Given the description of an element on the screen output the (x, y) to click on. 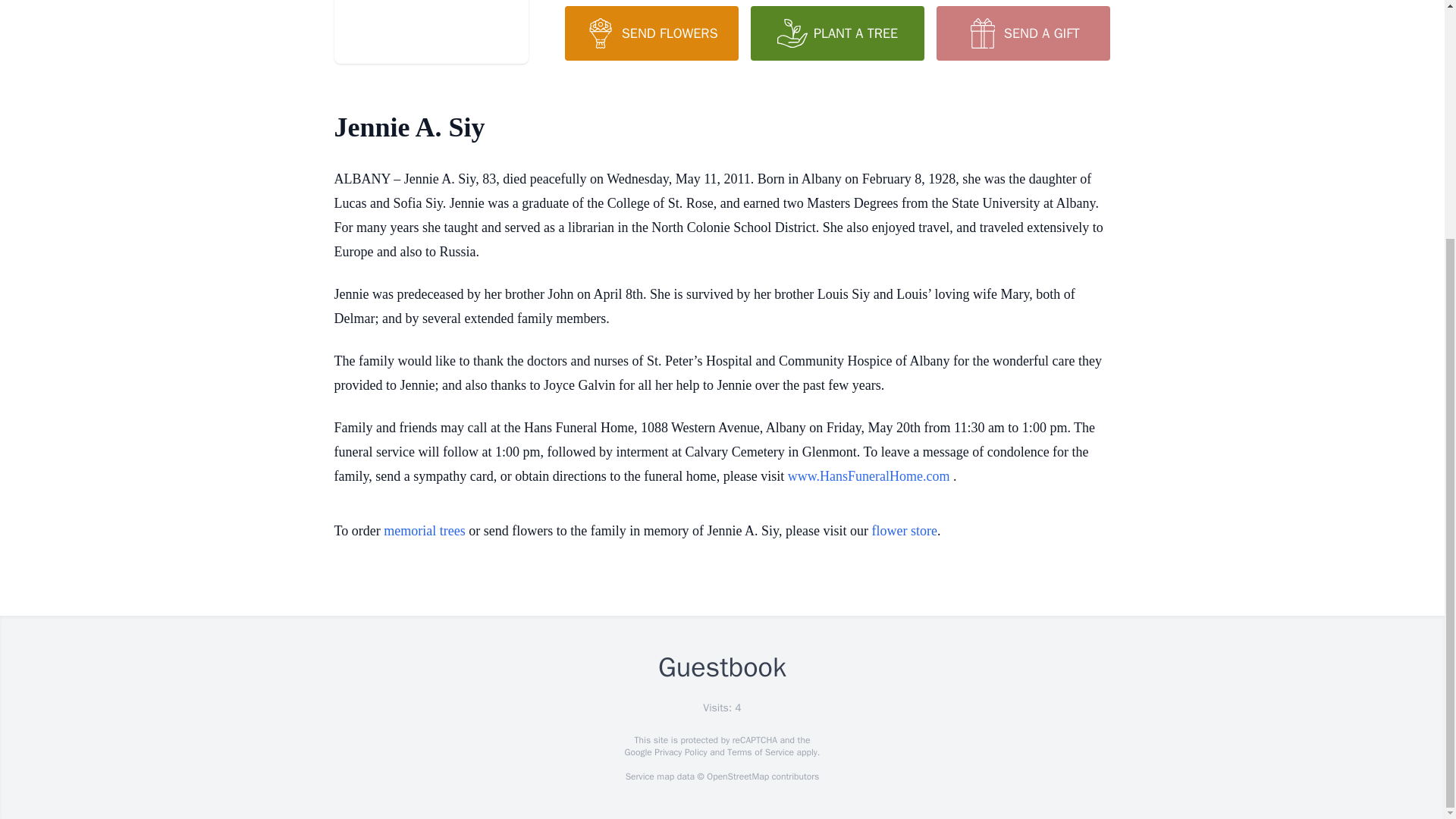
OpenStreetMap (737, 776)
Terms of Service (759, 752)
SEND A GIFT (1022, 32)
flower store (903, 530)
SEND FLOWERS (651, 32)
PLANT A TREE (837, 32)
Privacy Policy (679, 752)
www.HansFuneralHome.com (868, 476)
memorial trees (424, 530)
